Given the description of an element on the screen output the (x, y) to click on. 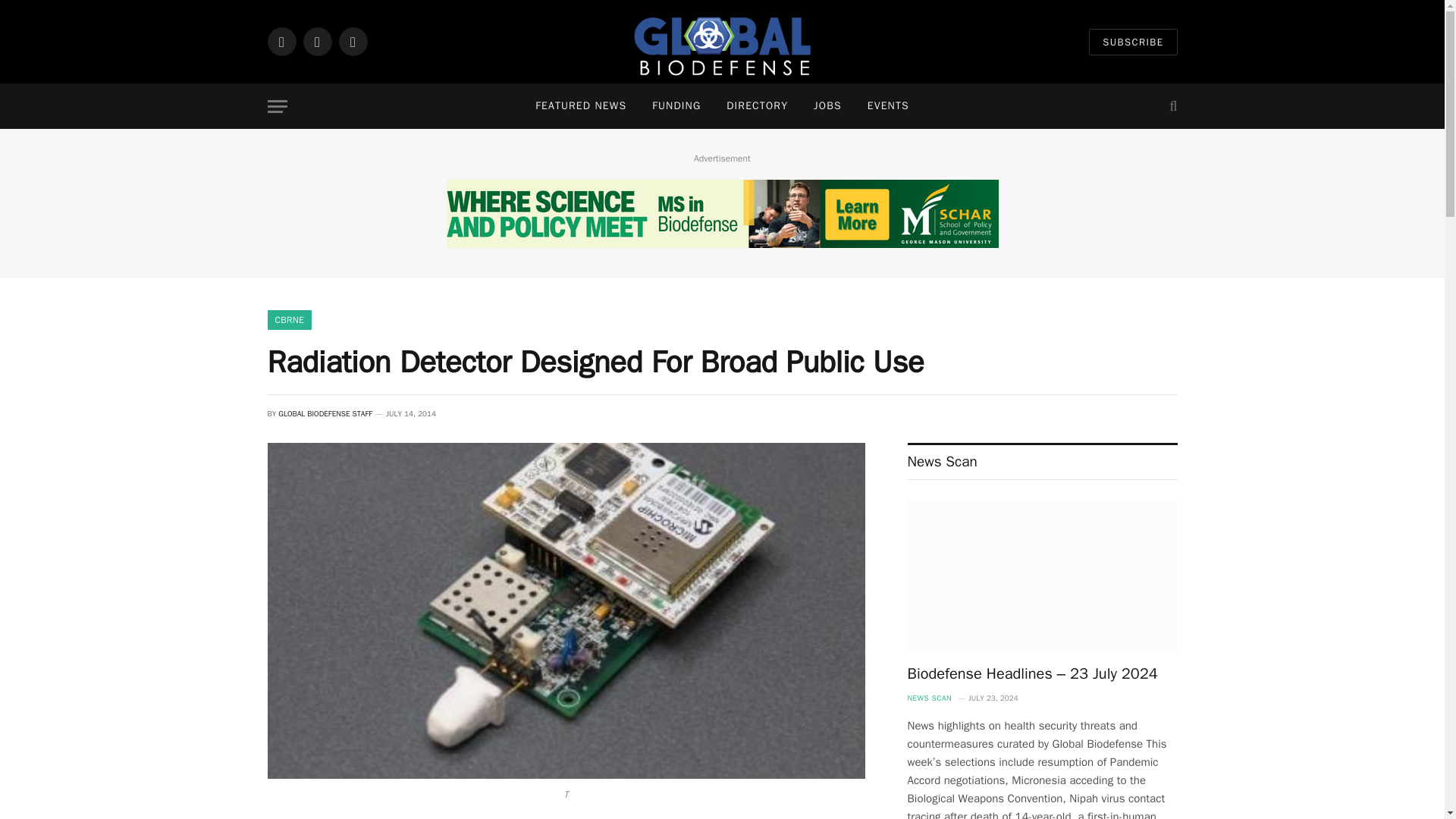
EVENTS (887, 105)
FEATURED NEWS (580, 105)
CBRNE (288, 320)
DIRECTORY (756, 105)
Instagram (316, 41)
Facebook (280, 41)
JOBS (827, 105)
Threads (351, 41)
FUNDING (676, 105)
SUBSCRIBE (1132, 41)
Posts by Global Biodefense Staff (325, 413)
GLOBAL BIODEFENSE STAFF (325, 413)
Biosecurity and Biodefense Jobs (827, 105)
Global Biodefense (721, 41)
